Given the description of an element on the screen output the (x, y) to click on. 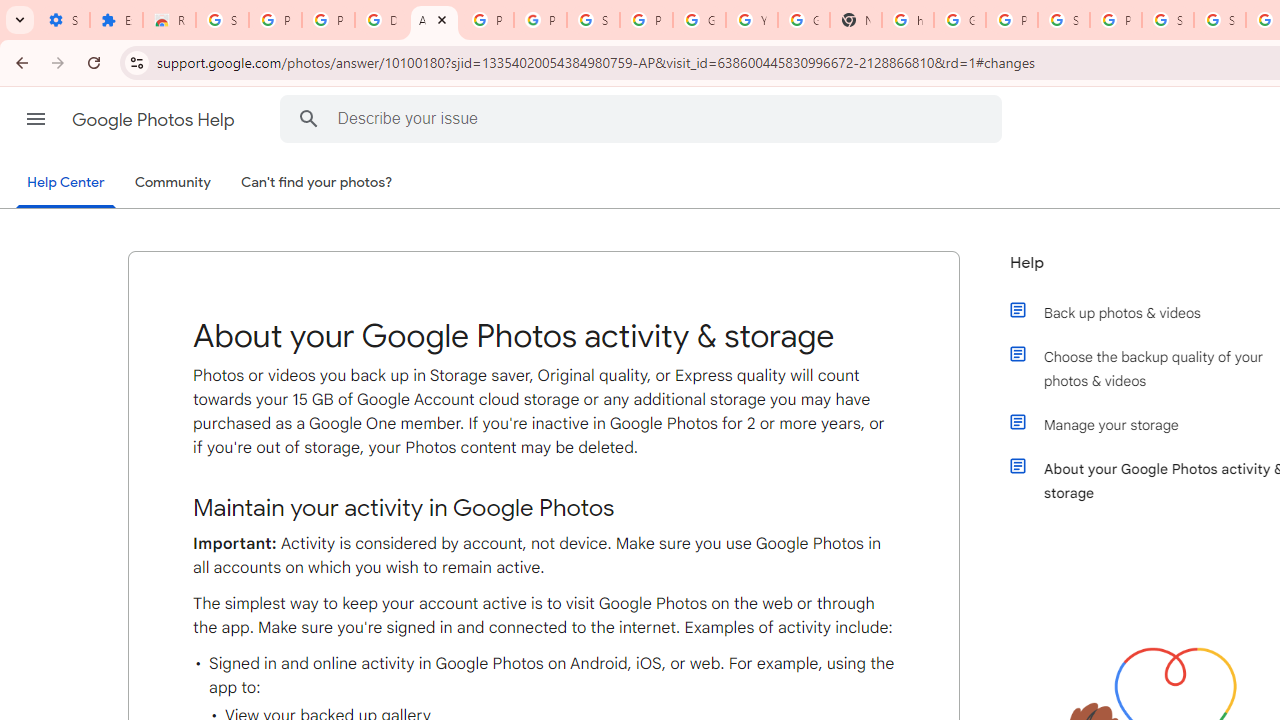
Reviews: Helix Fruit Jump Arcade Game (169, 20)
YouTube (751, 20)
New Tab (855, 20)
Main menu (35, 119)
Sign in - Google Accounts (222, 20)
